Given the description of an element on the screen output the (x, y) to click on. 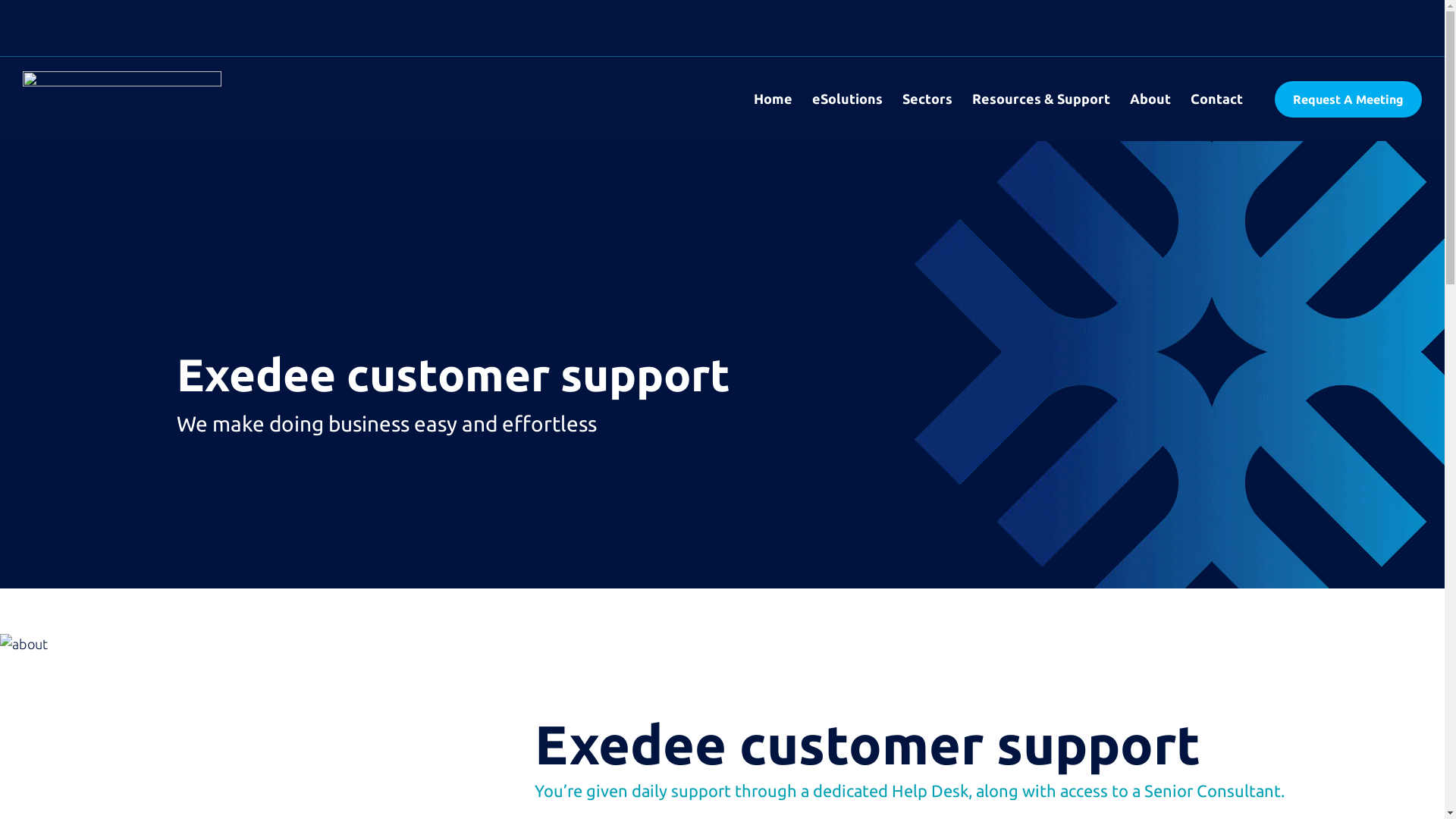
eSolutions Element type: text (847, 98)
Resources & Support Element type: text (1041, 98)
Request A Meeting Element type: text (1347, 98)
Contact Element type: text (1216, 98)
Home Element type: text (772, 98)
About Element type: text (1149, 98)
Sectors Element type: text (927, 98)
